Given the description of an element on the screen output the (x, y) to click on. 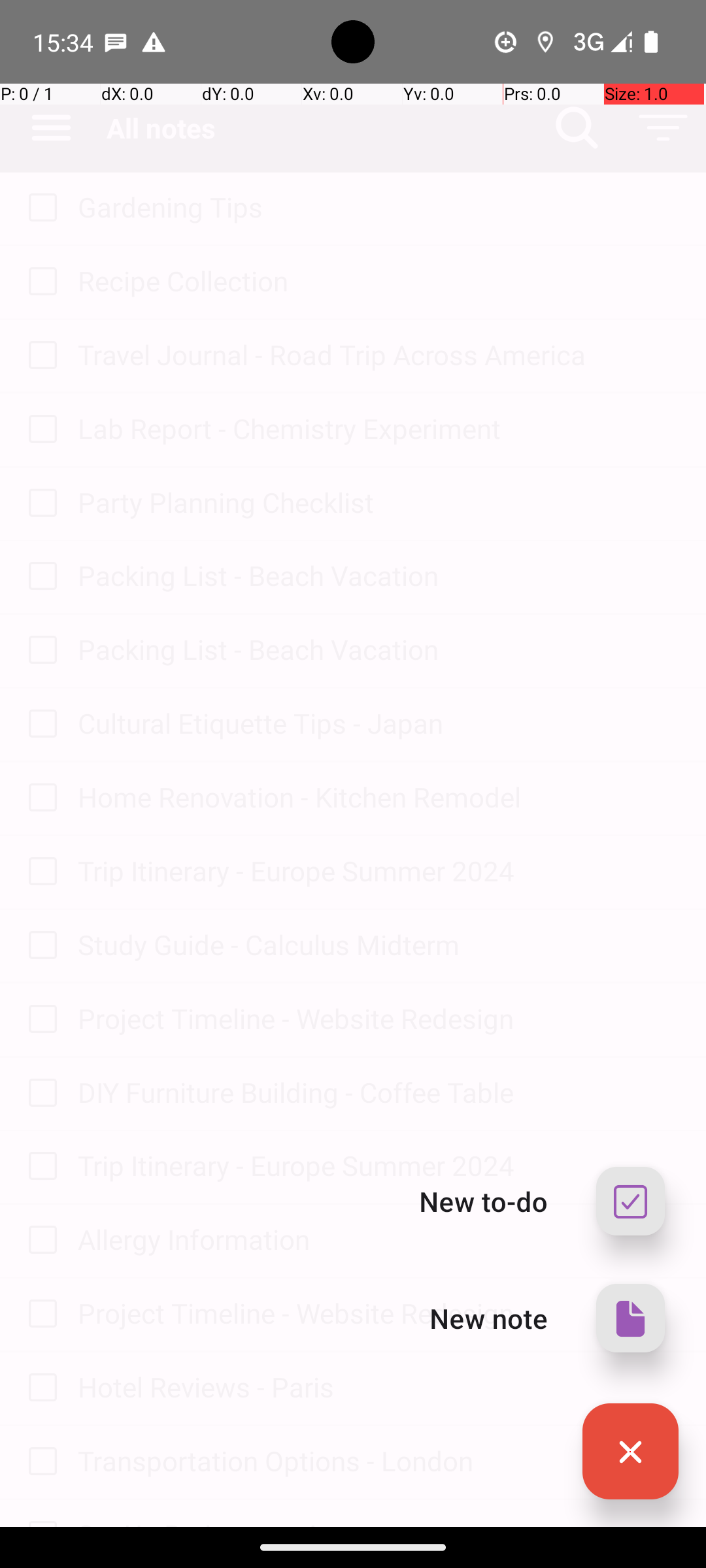
New to-do Element type: android.widget.Button (483, 1201)
New note Element type: android.widget.Button (488, 1317)
Add new, expanded Element type: android.widget.Button (630, 1451)
 Element type: android.widget.TextView (630, 1200)
 Element type: android.widget.TextView (630, 1317)
 Element type: android.widget.TextView (630, 1450)
to-do: Gardening Tips Element type: android.widget.CheckBox (38, 208)
Gardening Tips Element type: android.widget.TextView (378, 206)
to-do: Recipe Collection Element type: android.widget.CheckBox (38, 282)
Recipe Collection Element type: android.widget.TextView (378, 280)
to-do: Travel Journal - Road Trip Across America Element type: android.widget.CheckBox (38, 356)
Travel Journal - Road Trip Across America Element type: android.widget.TextView (378, 354)
to-do: Lab Report - Chemistry Experiment Element type: android.widget.CheckBox (38, 429)
Lab Report - Chemistry Experiment Element type: android.widget.TextView (378, 427)
to-do: Party Planning Checklist Element type: android.widget.CheckBox (38, 503)
Party Planning Checklist Element type: android.widget.TextView (378, 501)
to-do: Packing List - Beach Vacation Element type: android.widget.CheckBox (38, 576)
Packing List - Beach Vacation Element type: android.widget.TextView (378, 574)
to-do: Cultural Etiquette Tips - Japan Element type: android.widget.CheckBox (38, 724)
Cultural Etiquette Tips - Japan Element type: android.widget.TextView (378, 722)
to-do: Home Renovation - Kitchen Remodel Element type: android.widget.CheckBox (38, 798)
Home Renovation - Kitchen Remodel Element type: android.widget.TextView (378, 796)
to-do: Trip Itinerary - Europe Summer 2024 Element type: android.widget.CheckBox (38, 872)
Trip Itinerary - Europe Summer 2024 Element type: android.widget.TextView (378, 870)
to-do: Study Guide - Calculus Midterm Element type: android.widget.CheckBox (38, 945)
Study Guide - Calculus Midterm Element type: android.widget.TextView (378, 944)
to-do: Project Timeline - Website Redesign Element type: android.widget.CheckBox (38, 1019)
Project Timeline - Website Redesign Element type: android.widget.TextView (378, 1017)
to-do: DIY Furniture Building - Coffee Table Element type: android.widget.CheckBox (38, 1093)
DIY Furniture Building - Coffee Table Element type: android.widget.TextView (378, 1091)
to-do: Allergy Information Element type: android.widget.CheckBox (38, 1240)
Allergy Information Element type: android.widget.TextView (378, 1238)
to-do: Hotel Reviews - Paris Element type: android.widget.CheckBox (38, 1388)
Hotel Reviews - Paris Element type: android.widget.TextView (378, 1386)
to-do: Transportation Options - London Element type: android.widget.CheckBox (38, 1462)
Transportation Options - London Element type: android.widget.TextView (378, 1460)
to-do: Set Up Retirement Account Element type: android.widget.CheckBox (38, 1513)
Set Up Retirement Account Element type: android.widget.TextView (378, 1520)
